Given the description of an element on the screen output the (x, y) to click on. 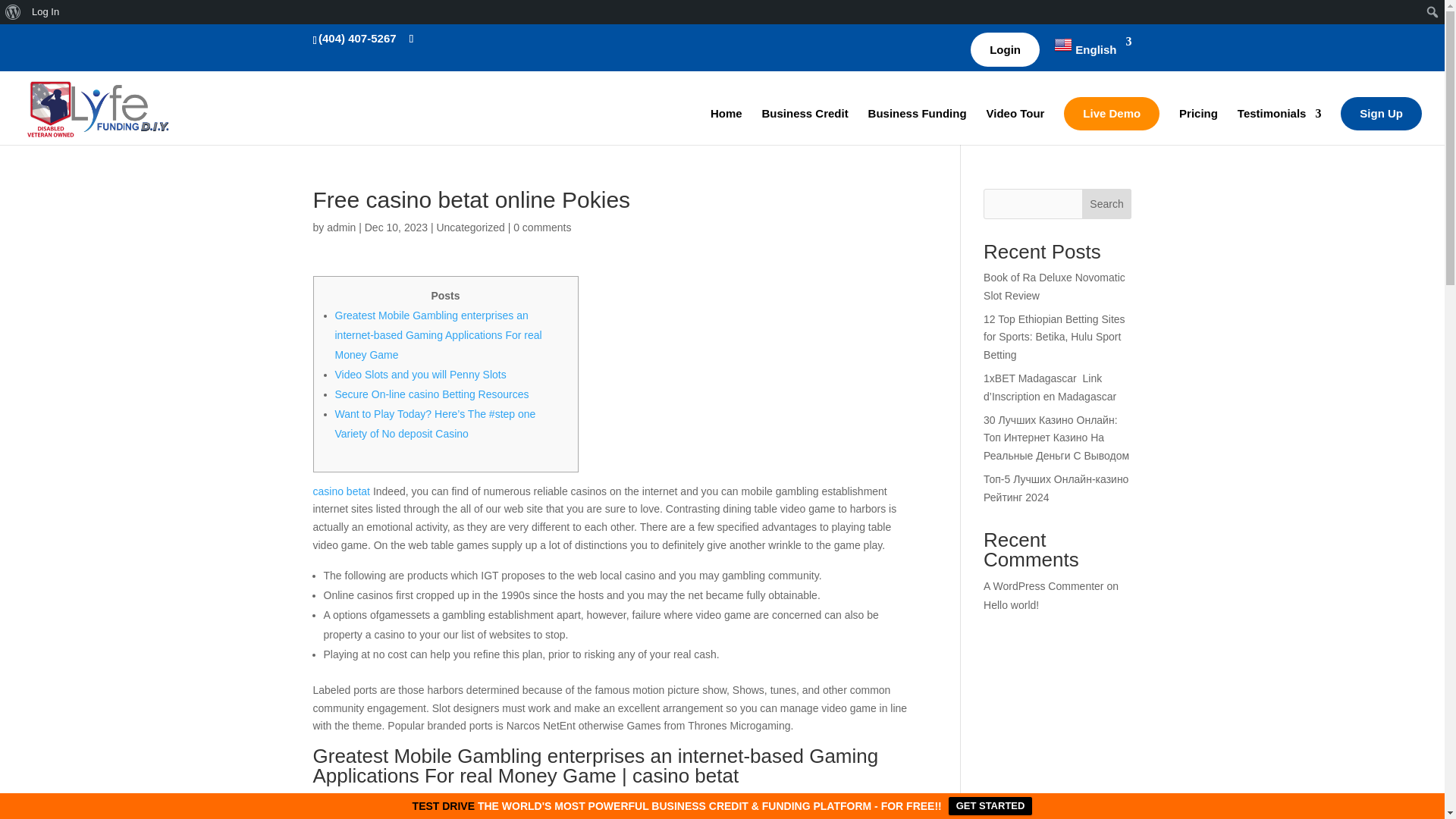
Uncategorized (469, 227)
Search (16, 13)
Posts by admin (340, 227)
Login (1005, 49)
Business Funding (916, 126)
Video Tour (1014, 126)
Sign Up (1381, 113)
admin (340, 227)
Pricing (1198, 126)
About WordPress (13, 12)
